Given the description of an element on the screen output the (x, y) to click on. 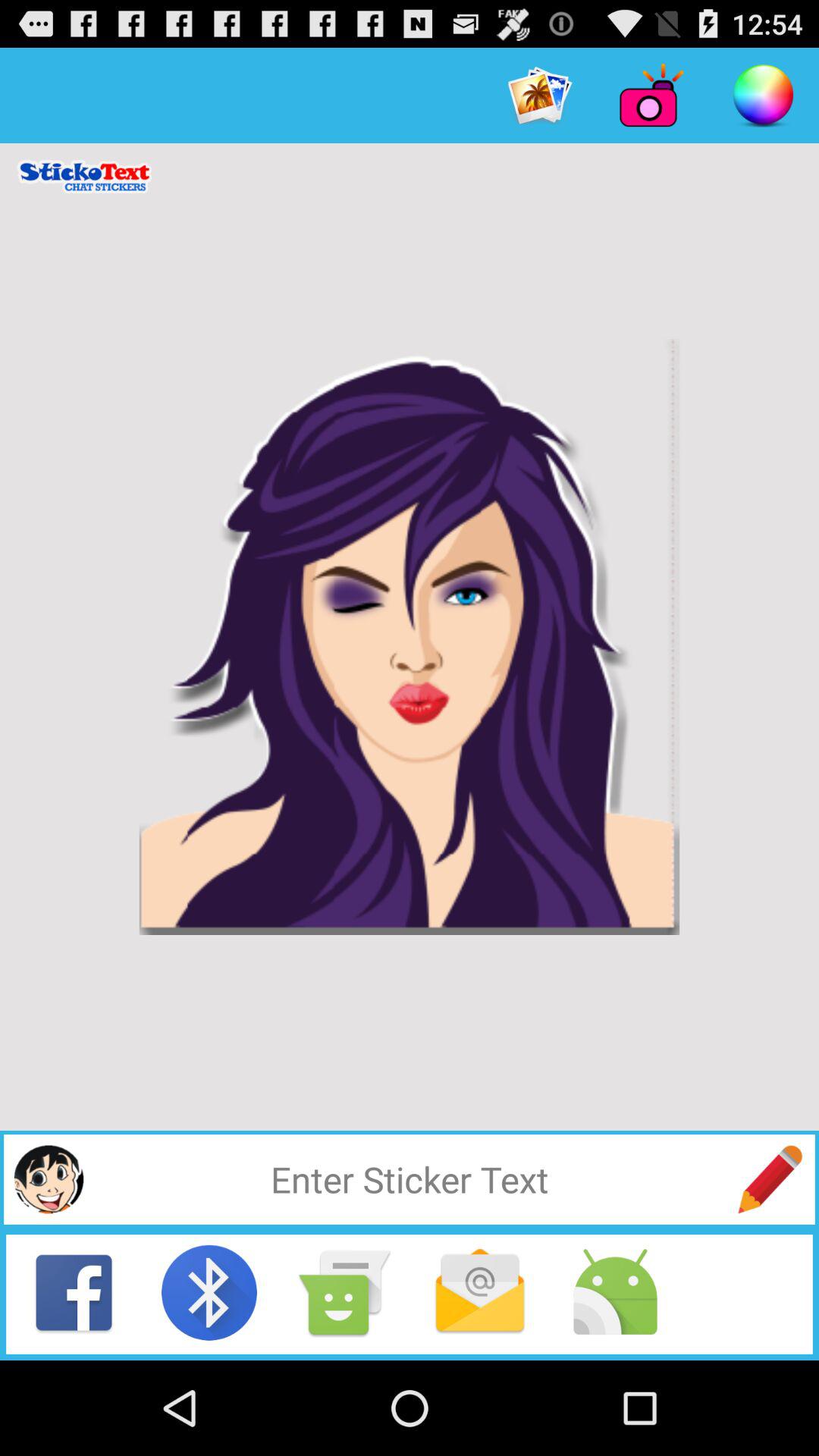
go to facebook (73, 1292)
